Given the description of an element on the screen output the (x, y) to click on. 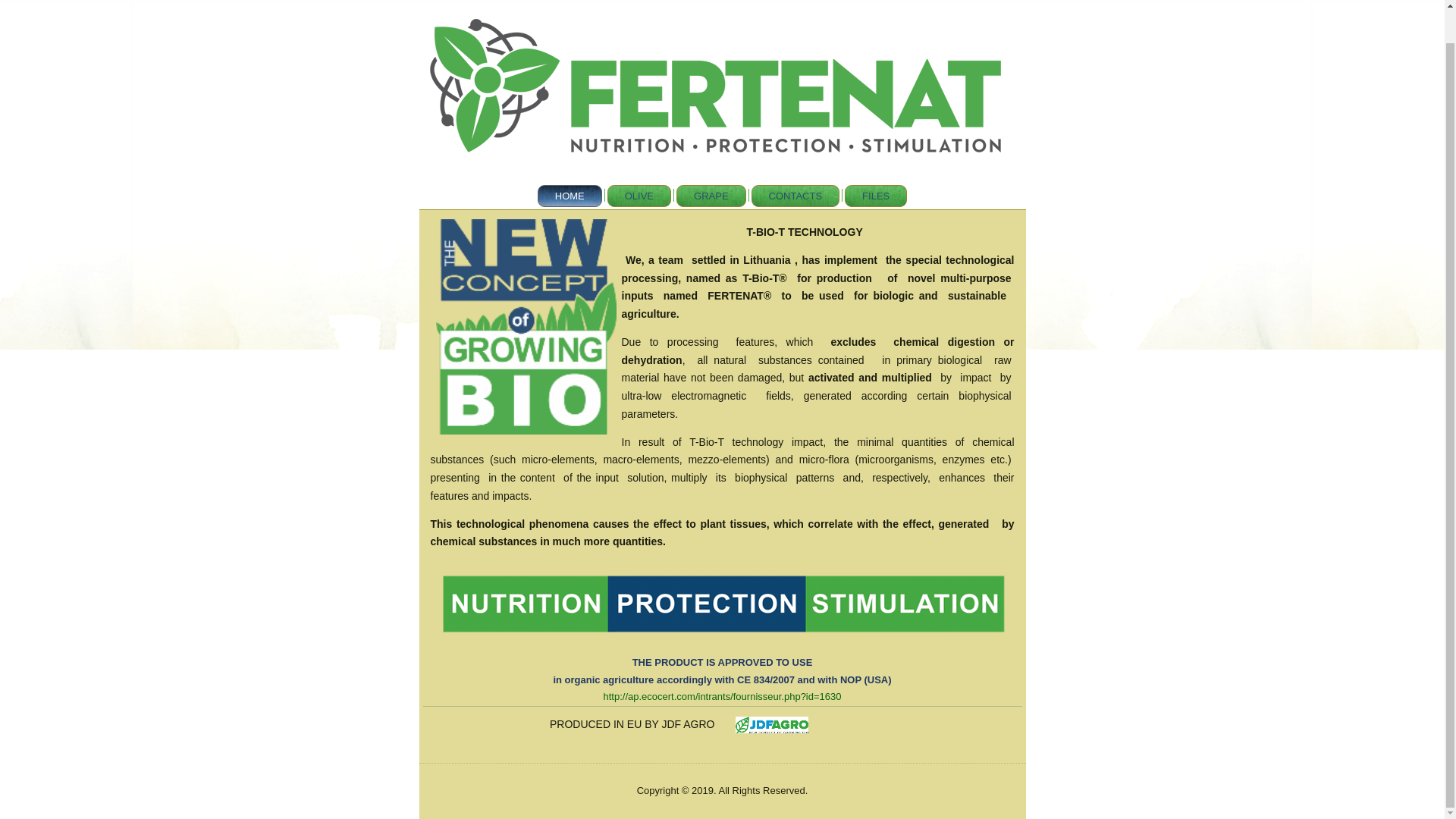
OLIVE (639, 196)
FILES (875, 196)
GRAPE (711, 196)
HOME (569, 196)
CONTACTS (795, 196)
